Given the description of an element on the screen output the (x, y) to click on. 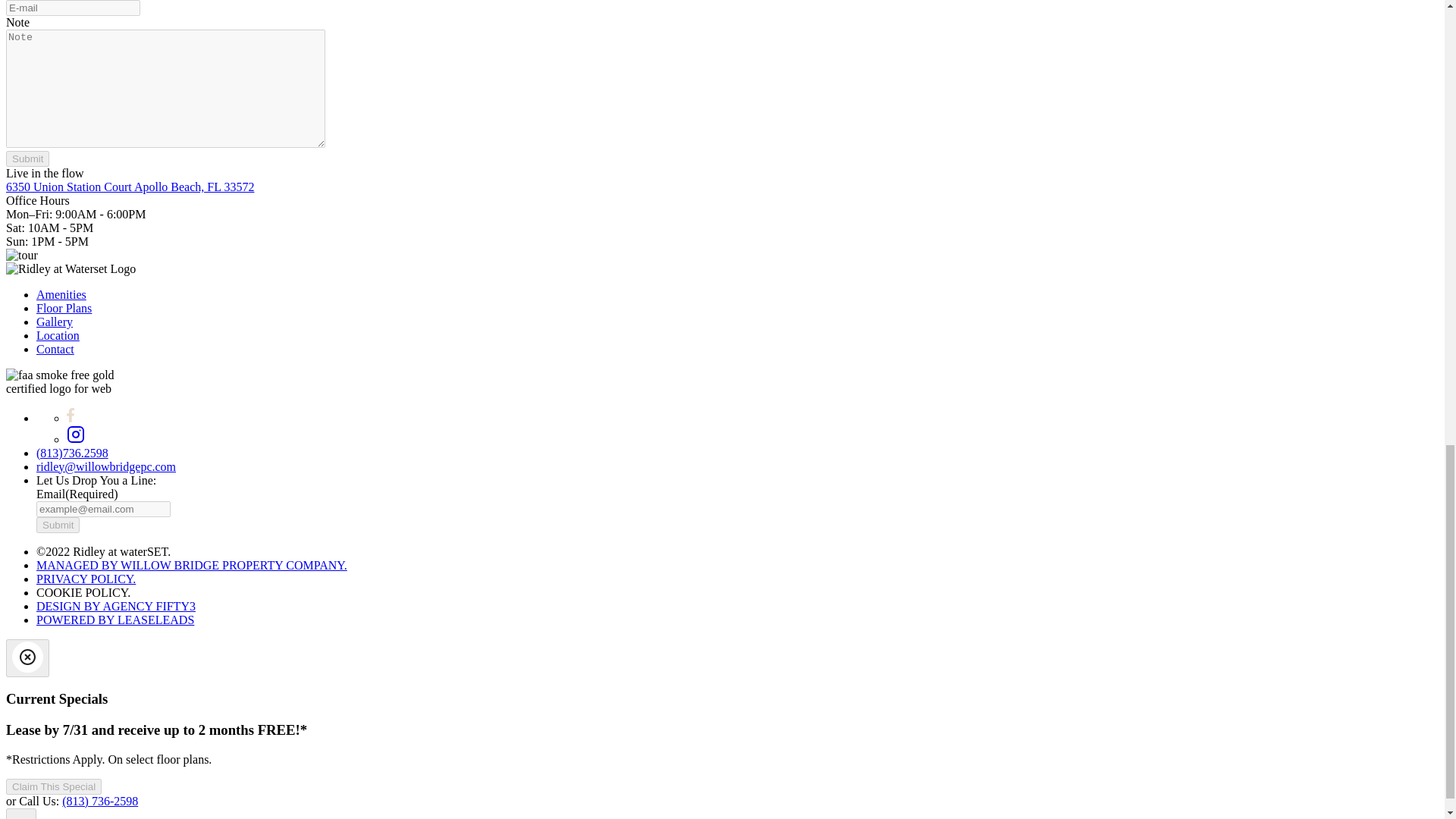
Floor Plans (63, 308)
Submit (27, 158)
Submit (58, 524)
Gallery (54, 321)
Amenities (60, 294)
Submit (27, 158)
6350 Union Station Court Apollo Beach, FL 33572 (129, 186)
